Given the description of an element on the screen output the (x, y) to click on. 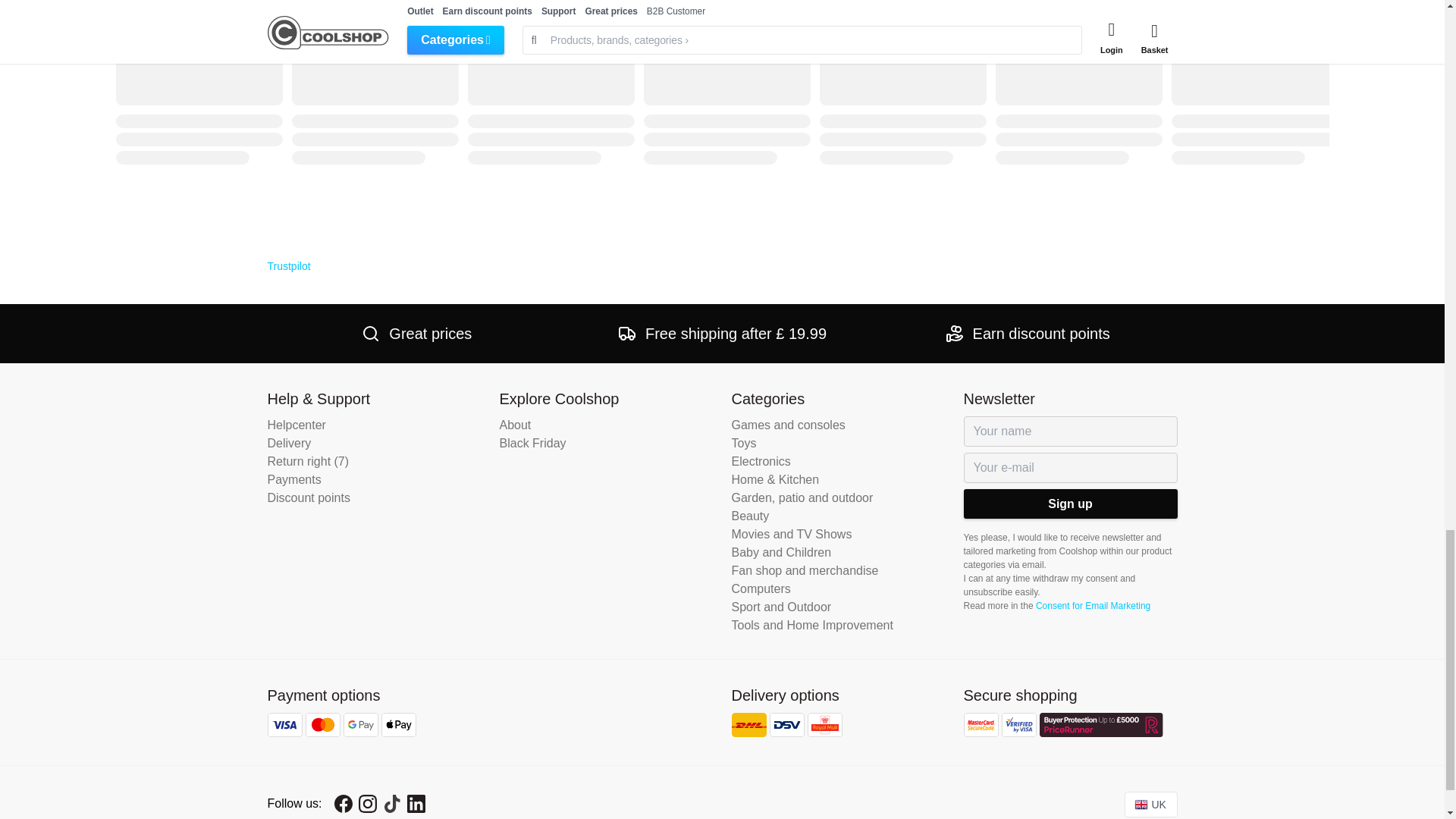
Facebook (343, 803)
TikTok (391, 803)
LinkedIn (416, 803)
Instagram (367, 803)
